Given the description of an element on the screen output the (x, y) to click on. 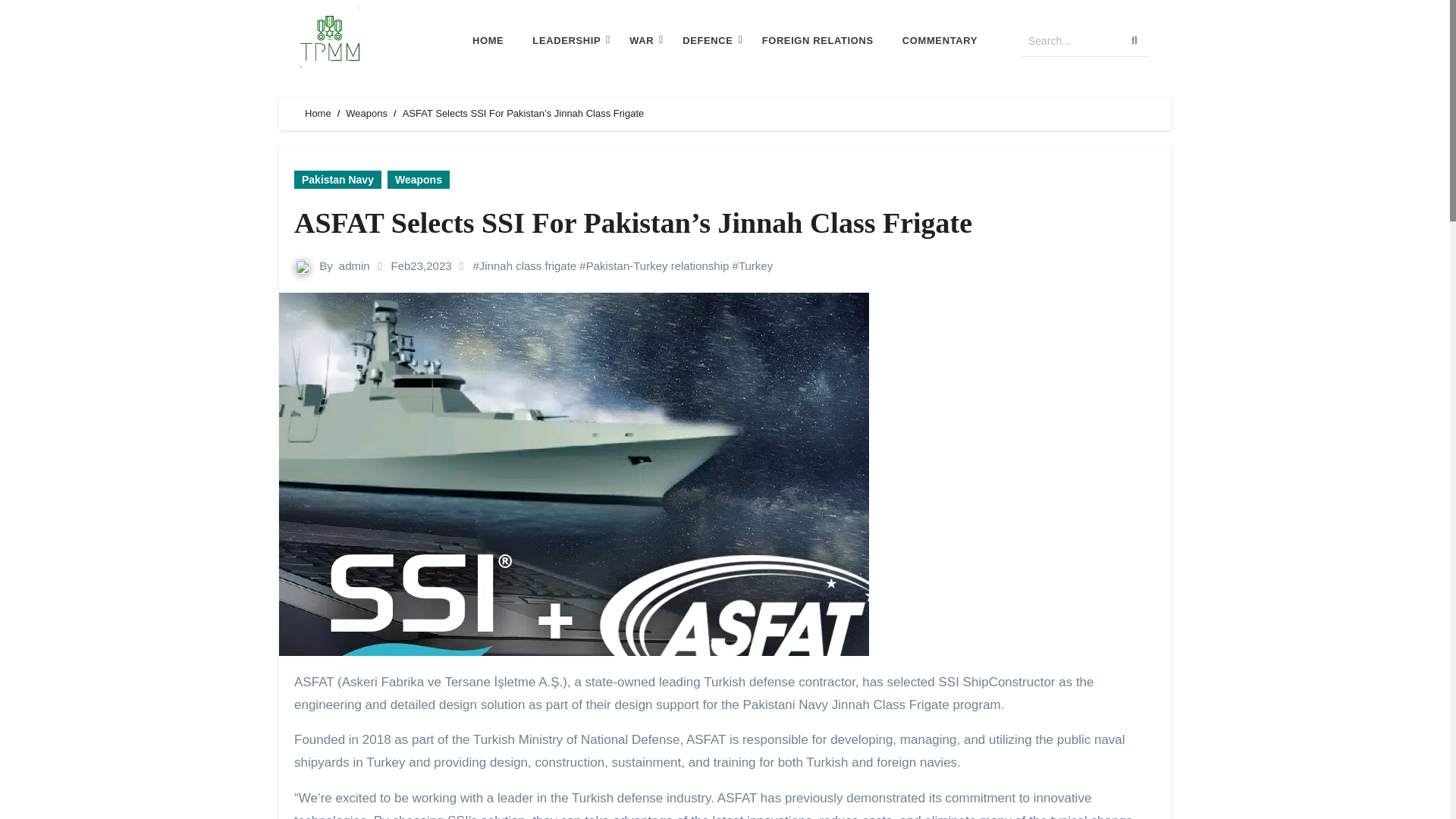
COMMENTARY (939, 41)
LEADERSHIP (566, 41)
HOME (488, 41)
Home (317, 112)
FOREIGN RELATIONS (817, 41)
DEFENCE (707, 41)
Search (1069, 40)
